Given the description of an element on the screen output the (x, y) to click on. 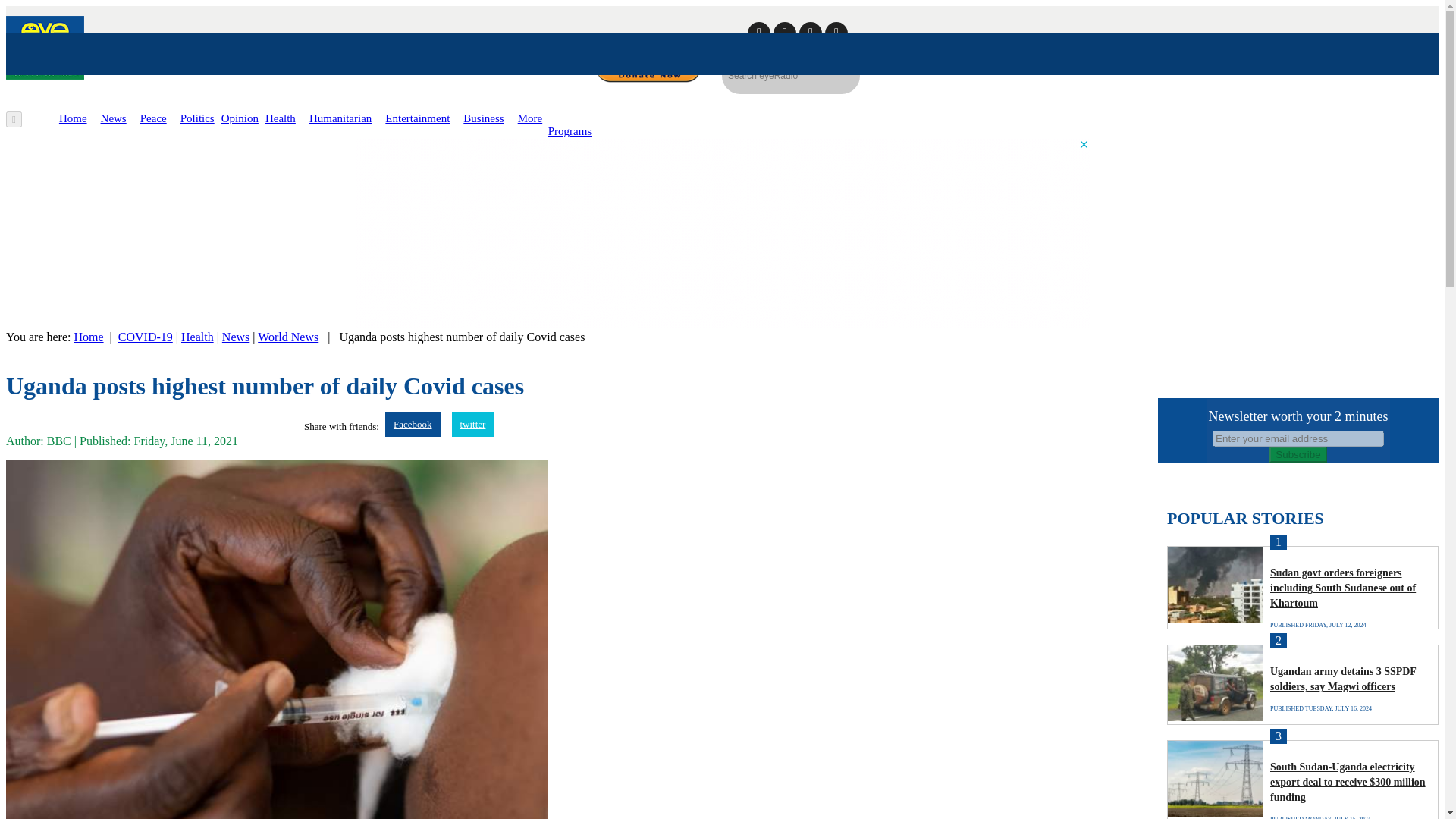
Contact Us (713, 41)
News (113, 118)
Home (73, 118)
Peace (153, 118)
Health (279, 118)
COVID-19 (145, 336)
Entertainment (417, 118)
Home (88, 336)
Politics (197, 118)
Careers (651, 41)
More (530, 118)
PayPal - The safer, easier way to pay online! (648, 70)
Subscribe (1297, 454)
Programs (570, 131)
